Given the description of an element on the screen output the (x, y) to click on. 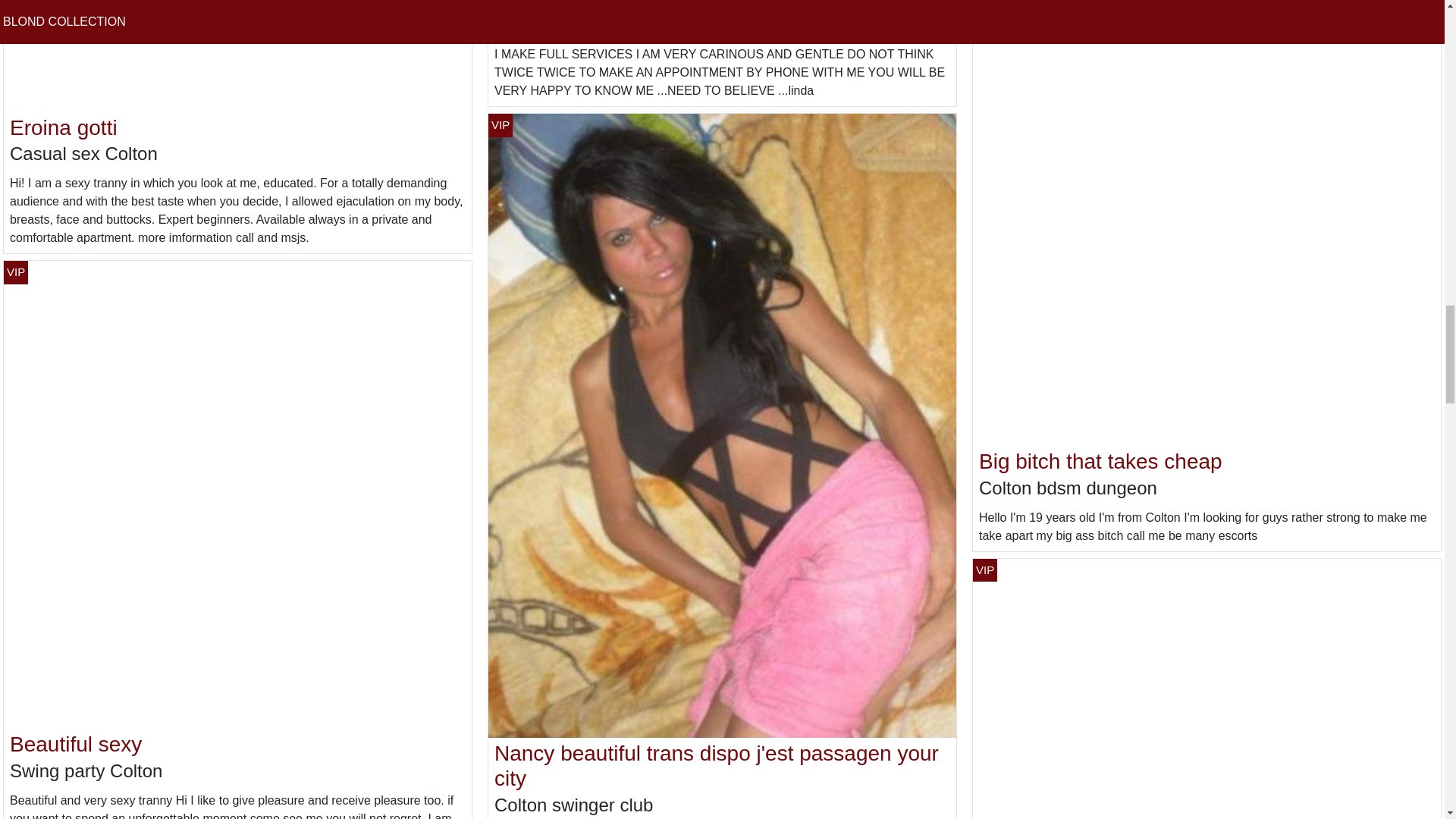
Eroina gotti (63, 127)
Beautiful sexy (75, 743)
Linda (521, 5)
Nancy beautiful trans dispo j'est passagen your city (717, 766)
